Given the description of an element on the screen output the (x, y) to click on. 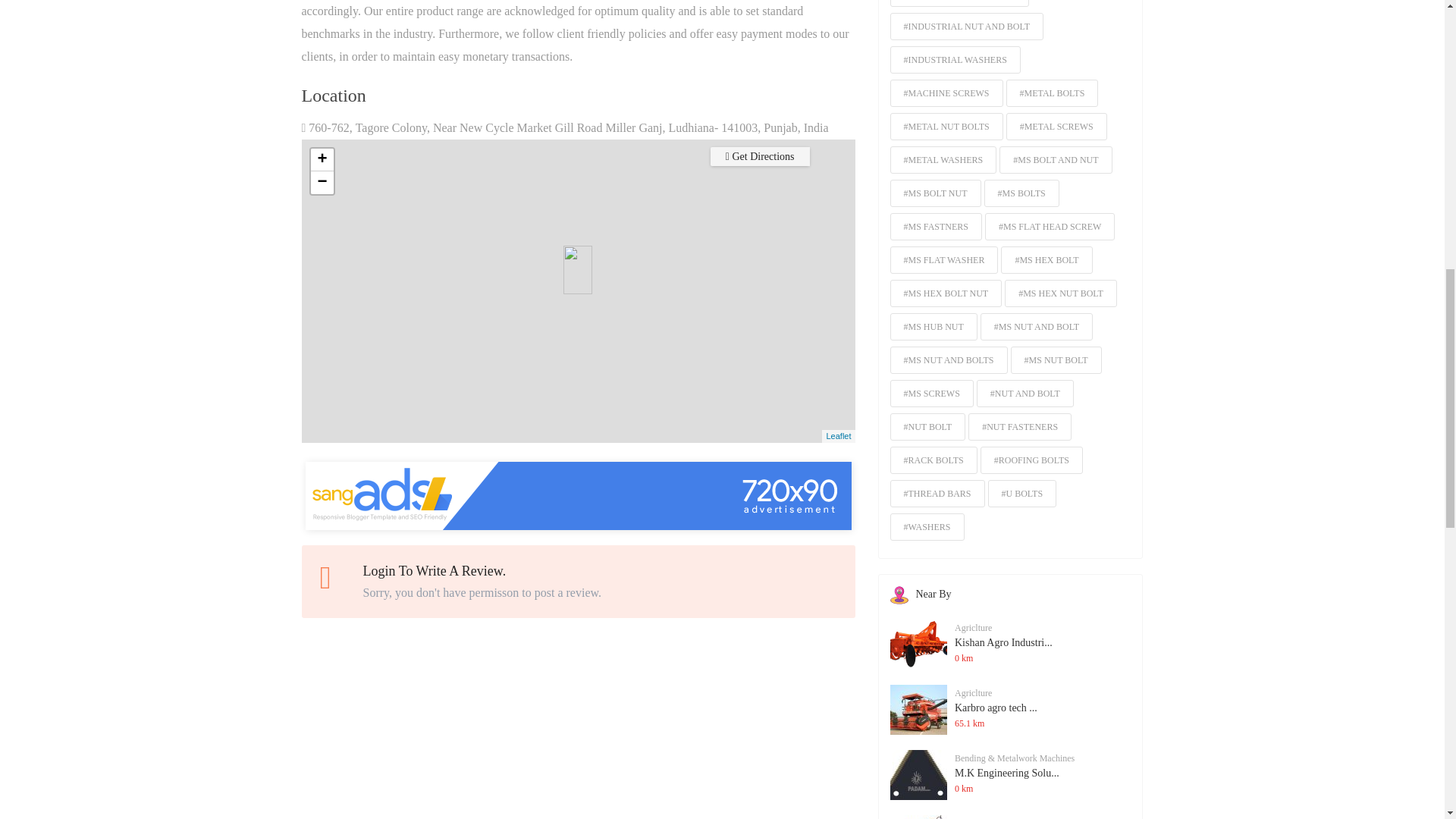
A JS library for interactive maps (837, 435)
Zoom in (322, 159)
Zoom out (322, 182)
